Given the description of an element on the screen output the (x, y) to click on. 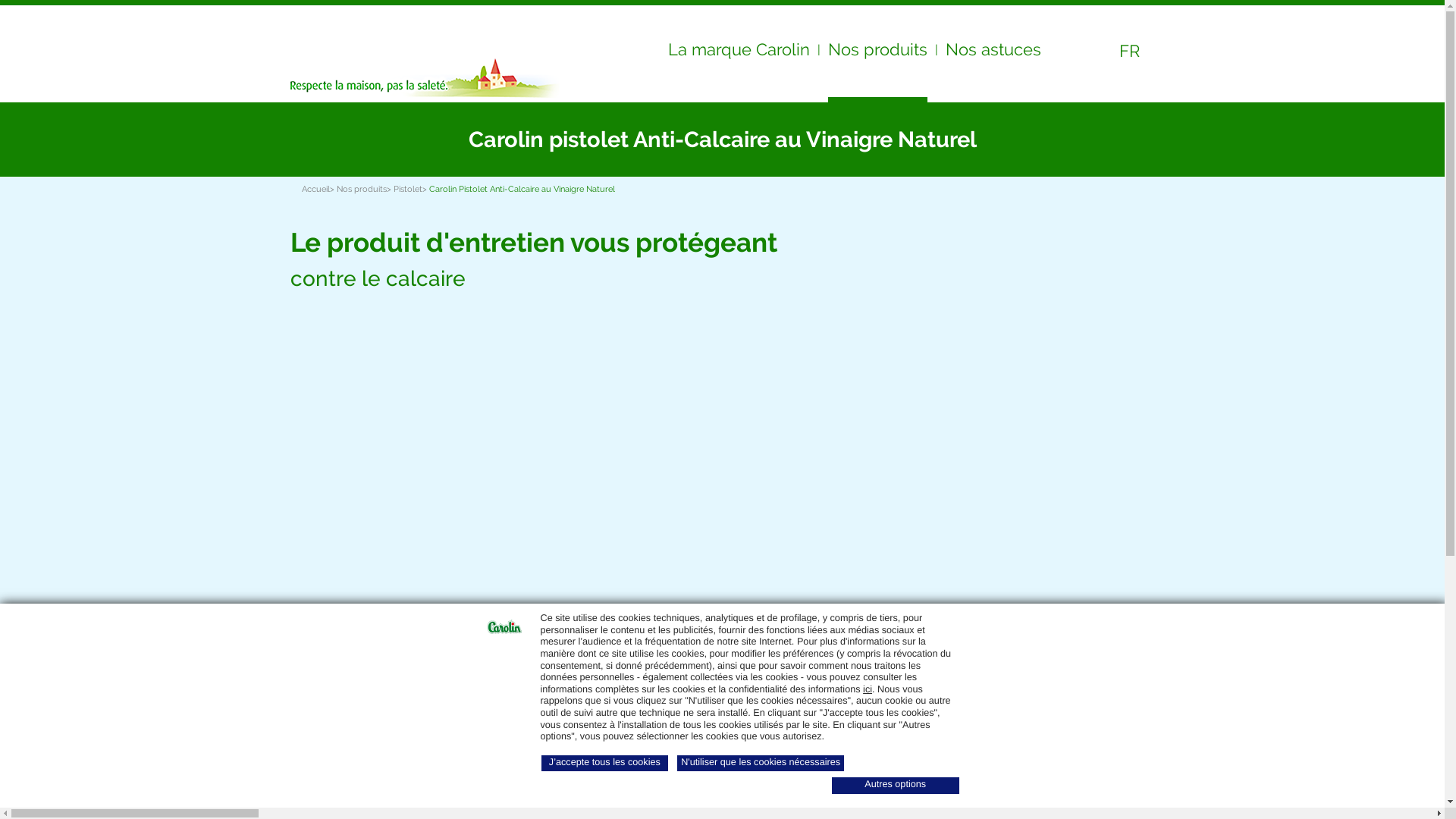
Accueil Element type: text (315, 189)
Nos produits Element type: text (877, 56)
Carolin Element type: text (362, 44)
Nos astuces Element type: text (992, 53)
ici Element type: text (867, 689)
Autres options Element type: text (895, 785)
Pistolet Element type: text (406, 189)
La marque Carolin Element type: text (738, 53)
Retour Element type: text (315, 139)
Nos produits Element type: text (361, 189)
